Given the description of an element on the screen output the (x, y) to click on. 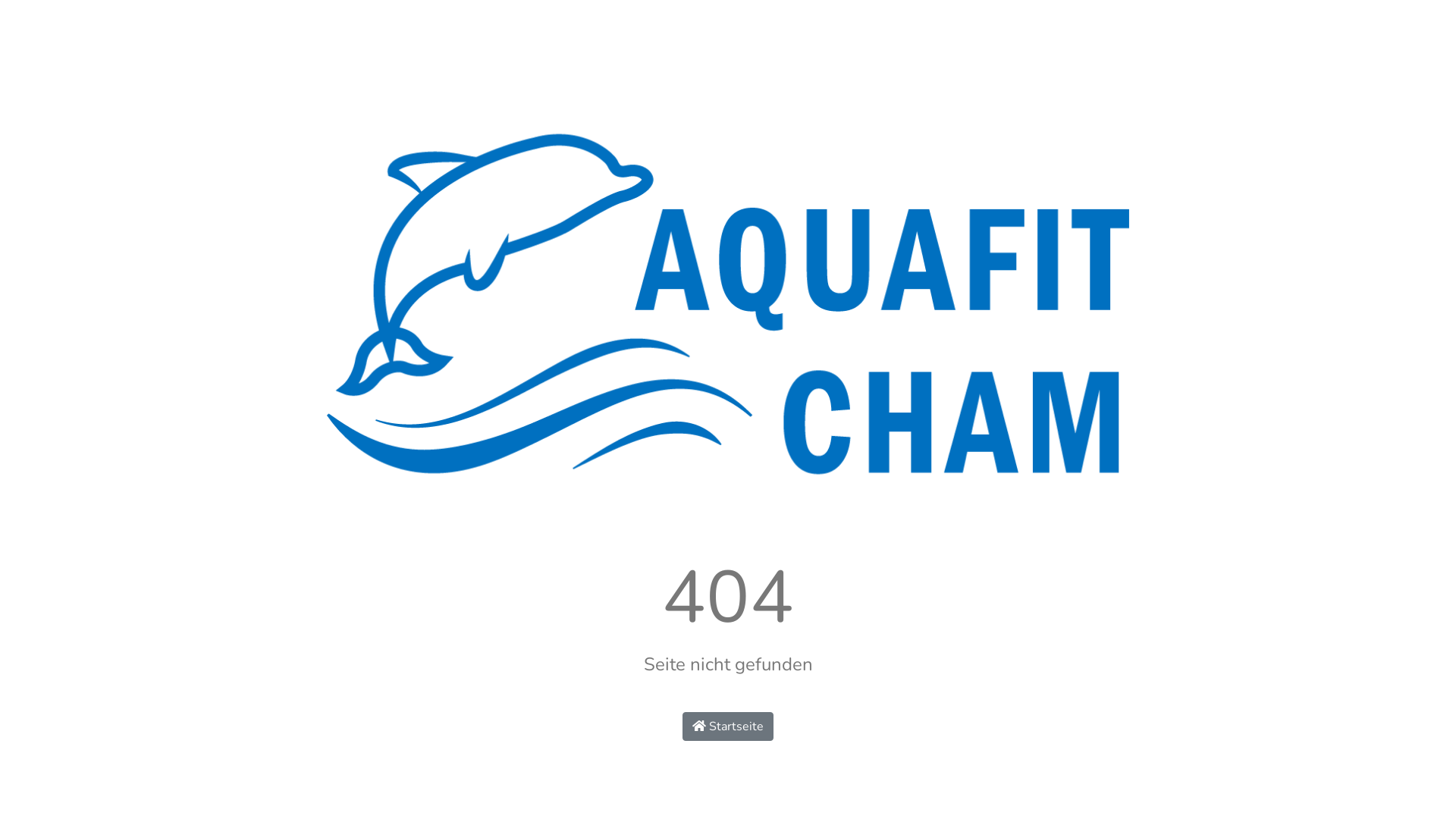
Startseite Element type: text (727, 726)
